Given the description of an element on the screen output the (x, y) to click on. 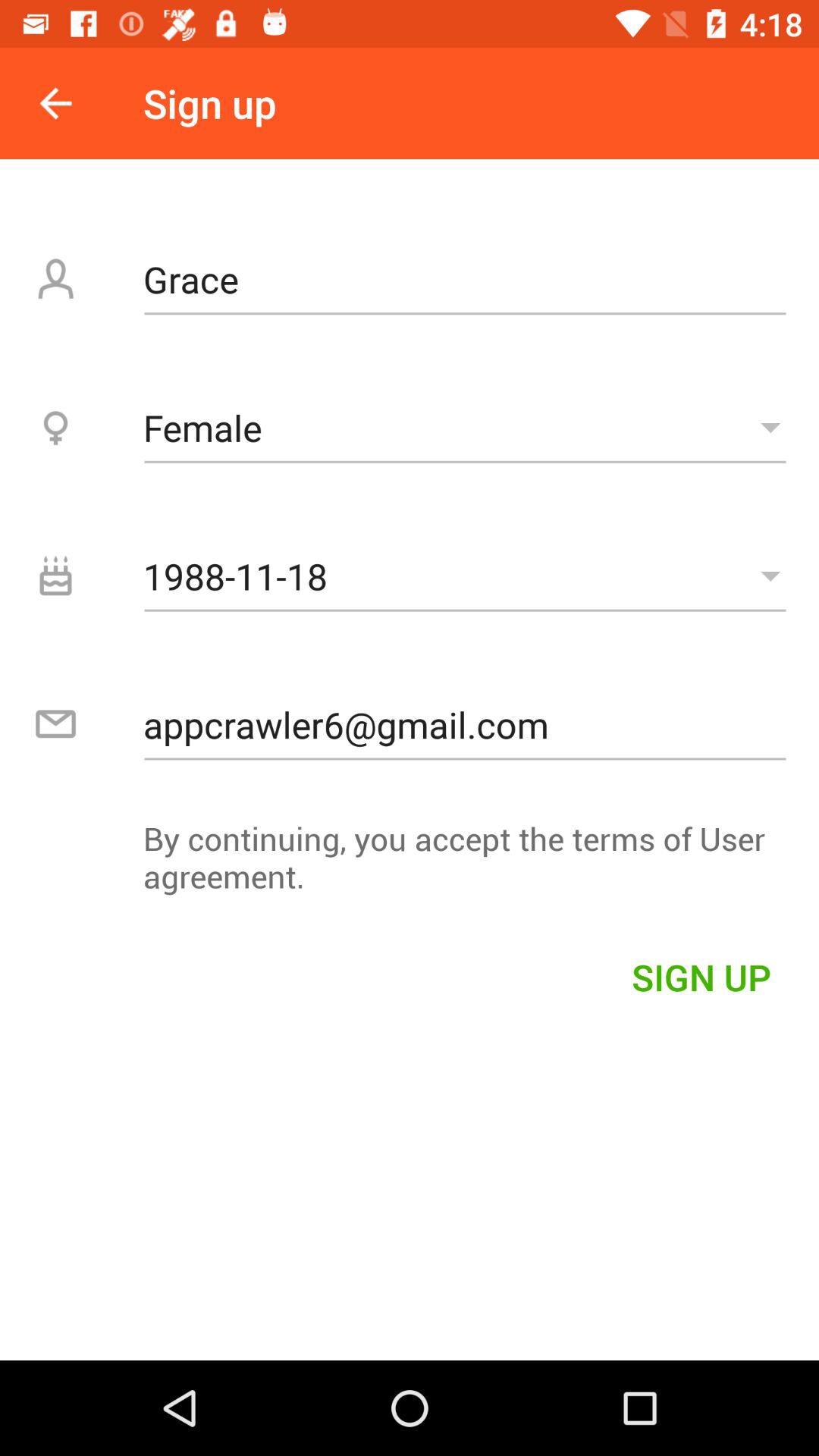
press the icon to the left of sign up icon (55, 103)
